Given the description of an element on the screen output the (x, y) to click on. 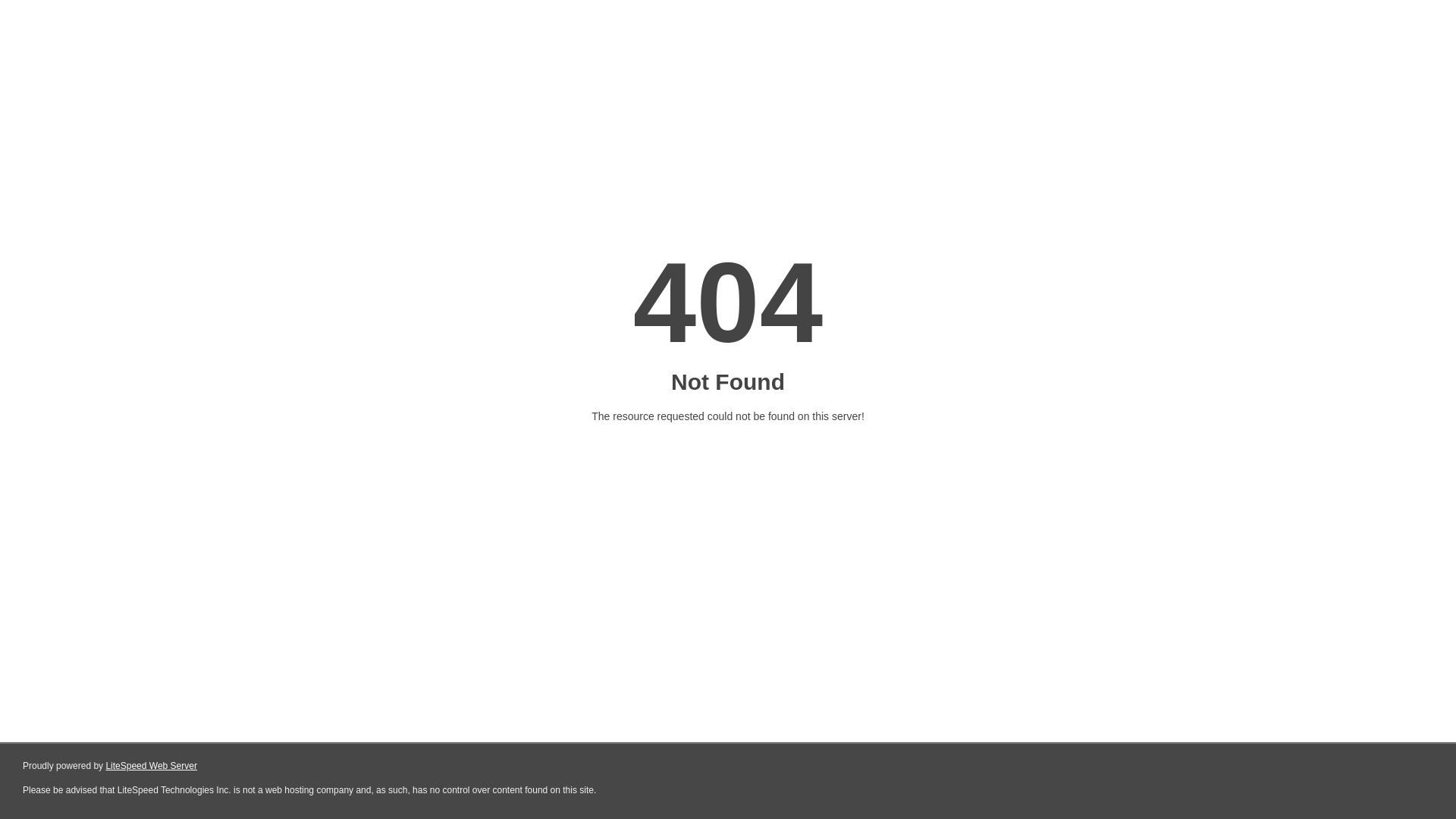
LiteSpeed Web Server Element type: text (151, 765)
